Given the description of an element on the screen output the (x, y) to click on. 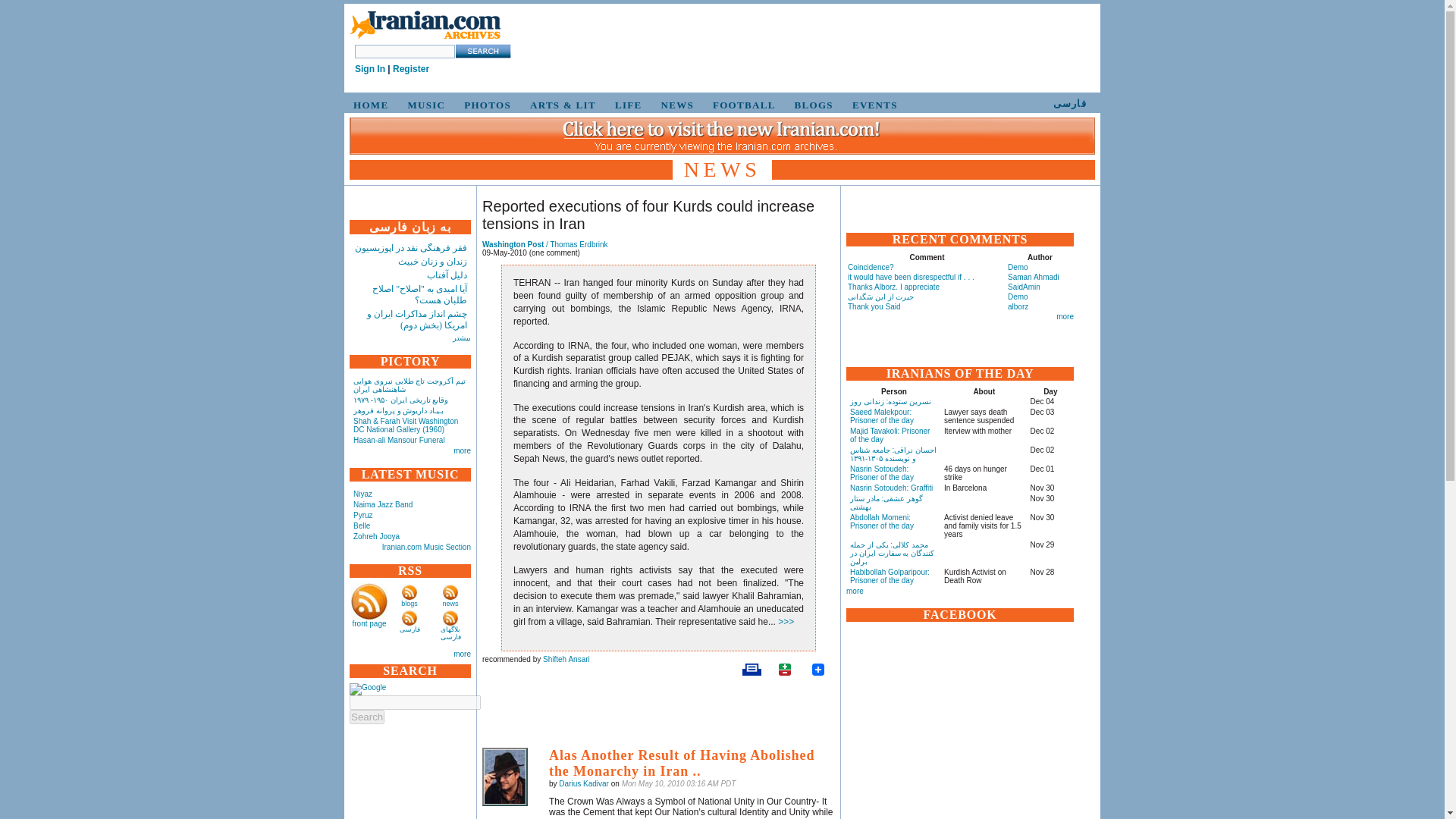
front page (368, 623)
Belle (361, 525)
Home (424, 40)
FOOTBALL (741, 105)
HOME (368, 105)
more (461, 450)
View user profile. (583, 783)
Google (367, 689)
Home (424, 25)
news (450, 603)
